Given the description of an element on the screen output the (x, y) to click on. 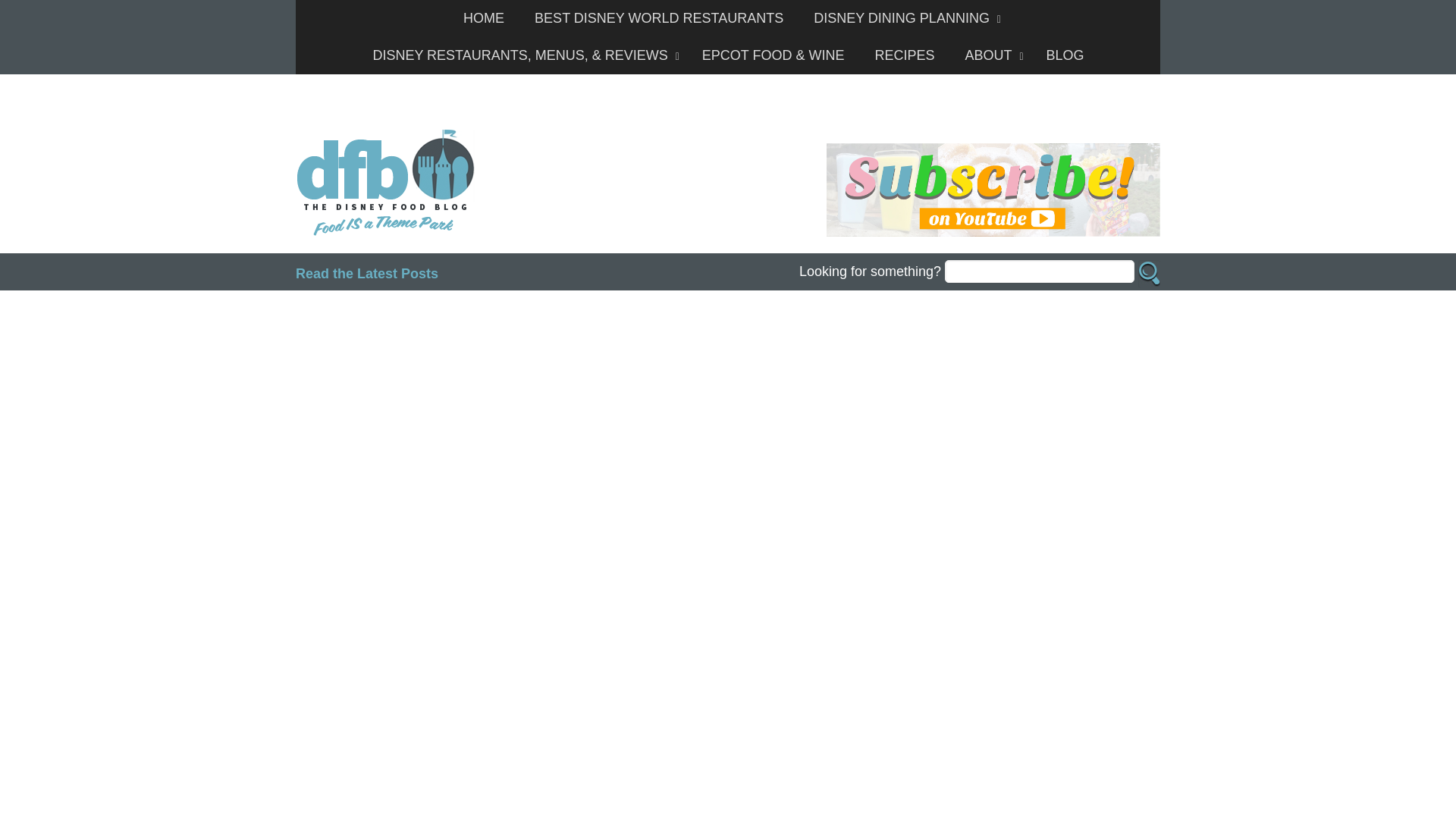
HOME (483, 18)
DISNEY DINING PLANNING (903, 18)
BEST DISNEY WORLD RESTAURANTS (658, 18)
